Given the description of an element on the screen output the (x, y) to click on. 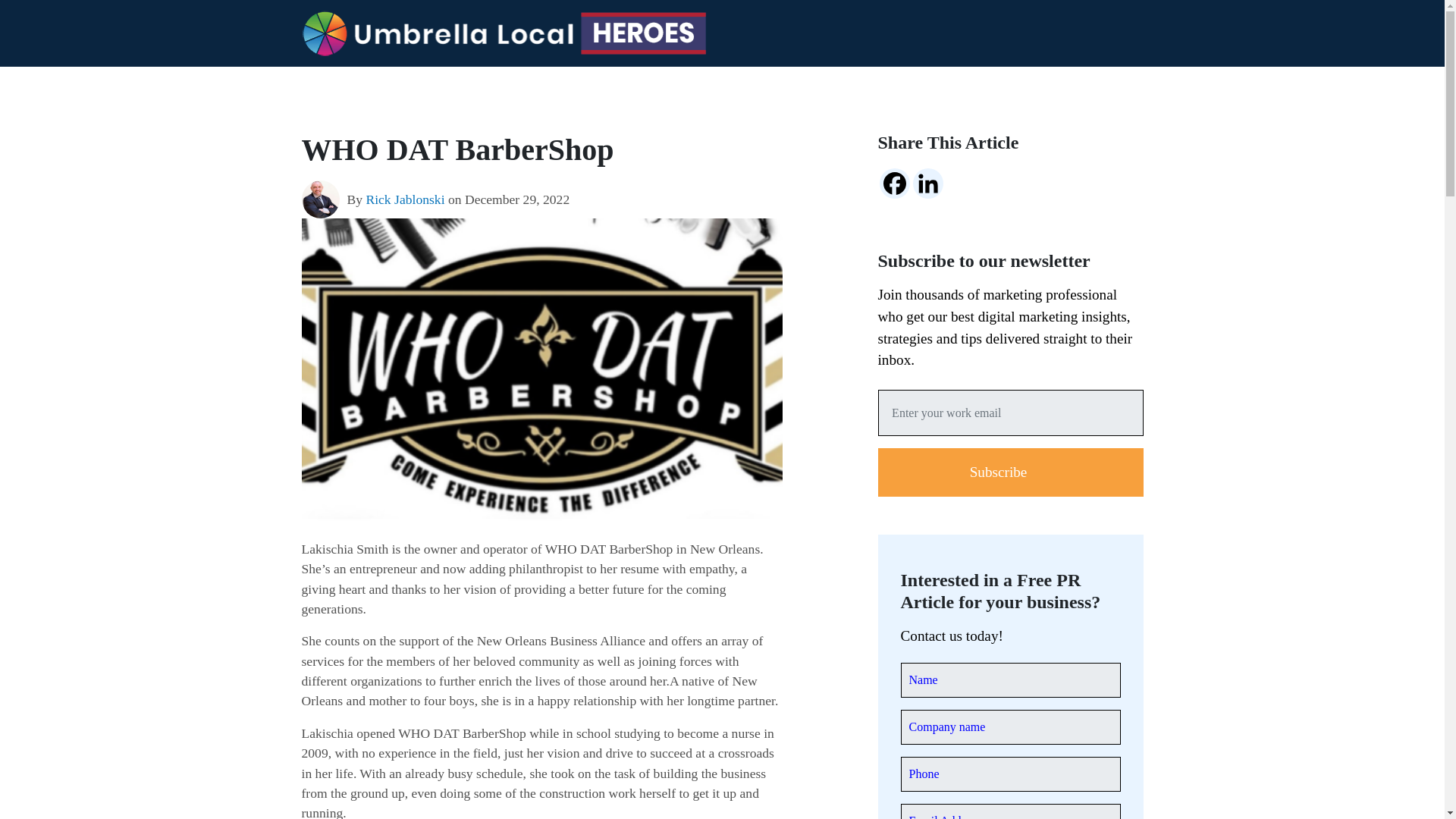
Facebook (894, 183)
Subscribe (1009, 471)
Subscribe (1009, 471)
Subscribe (1009, 471)
Linkedin (927, 183)
